Given the description of an element on the screen output the (x, y) to click on. 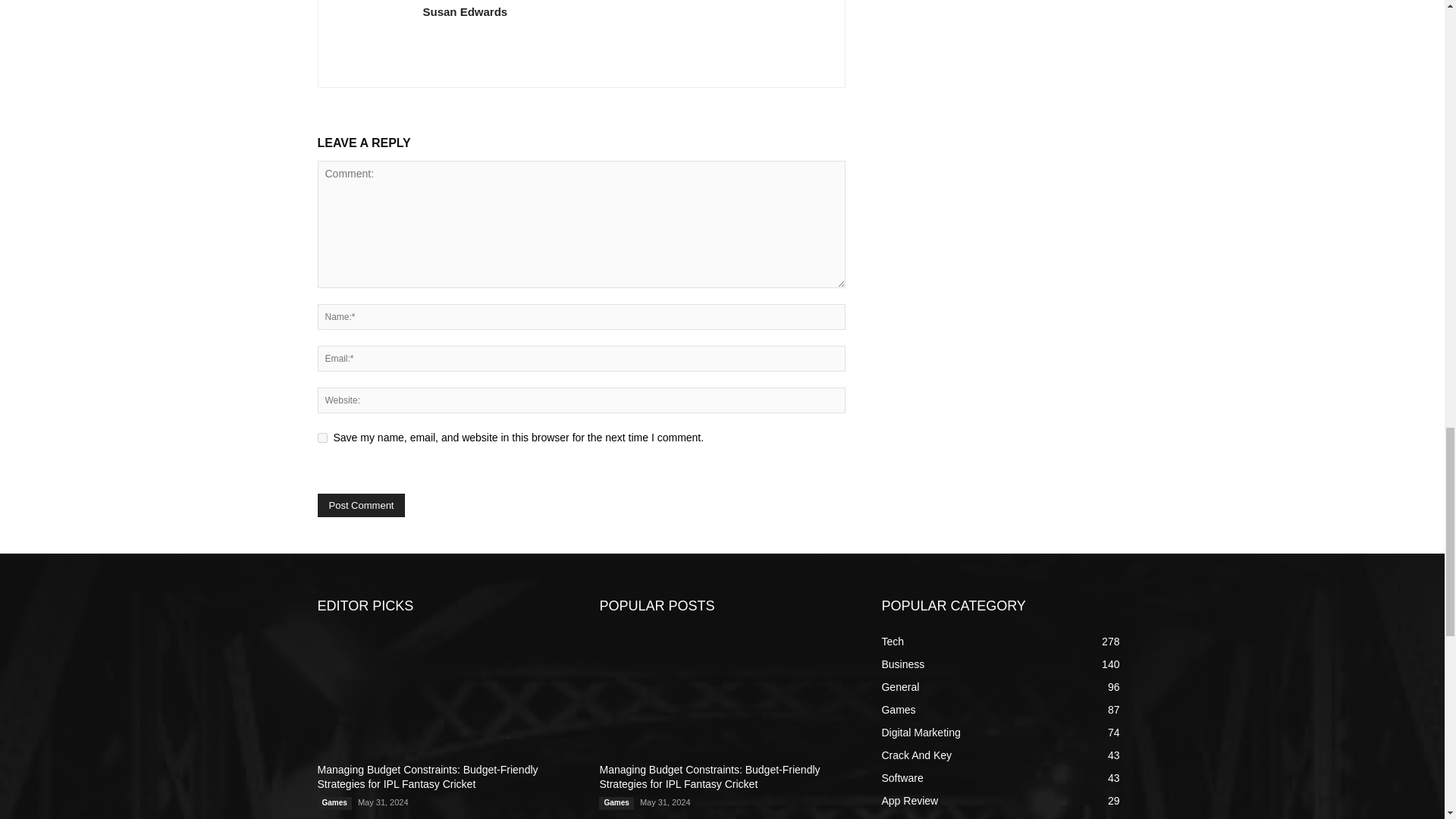
Post Comment (360, 504)
yes (321, 438)
